Given the description of an element on the screen output the (x, y) to click on. 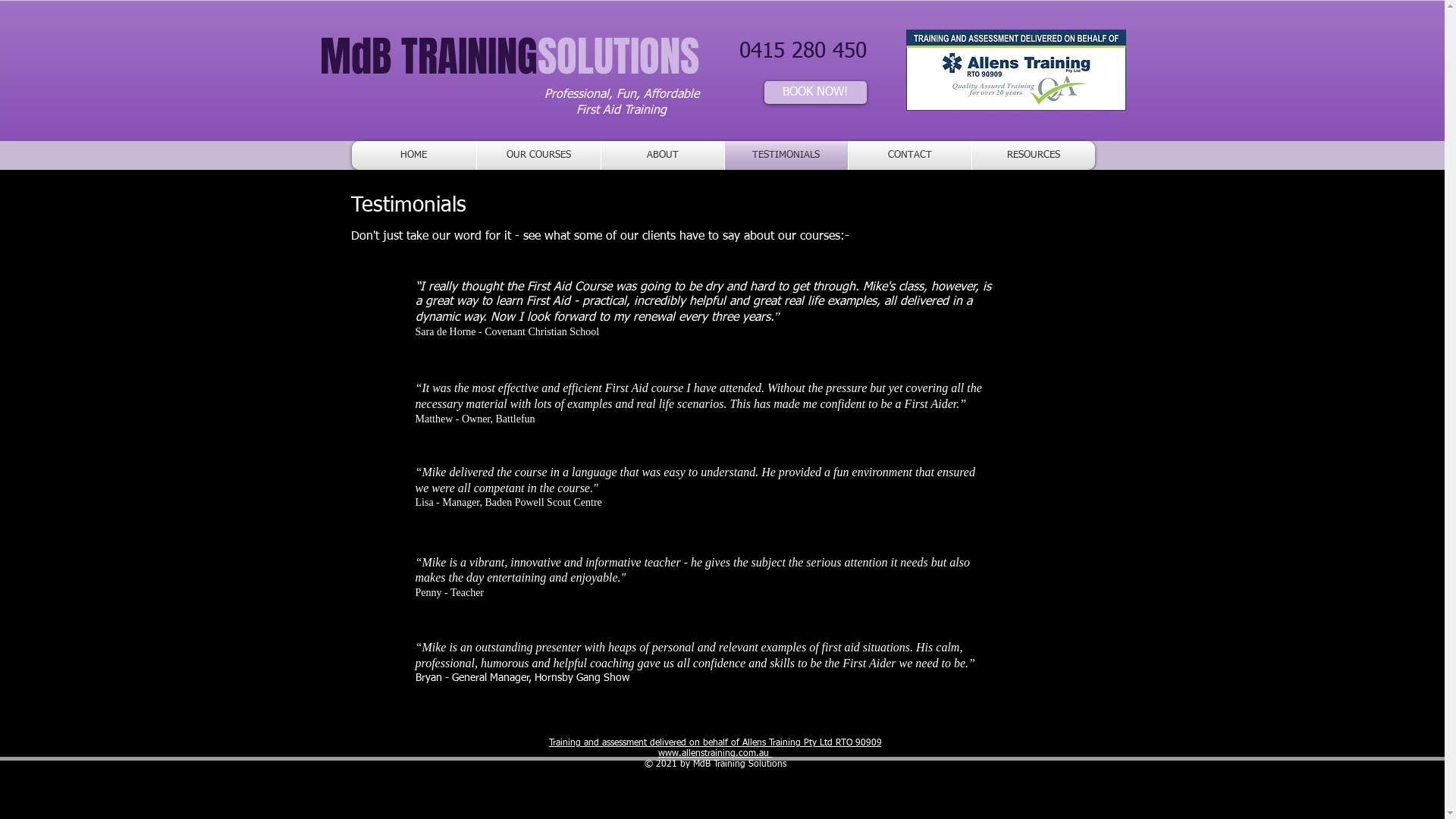
www.allenstraining.com.au  Element type: text (714, 753)
ABOUT Element type: text (661, 155)
Deliv by Allens White DkBlue 15AUG19 web Element type: hover (1015, 69)
BOOK NOW! Element type: text (815, 92)
HOME Element type: text (413, 155)
CONTACT Element type: text (908, 155)
OUR COURSES Element type: text (537, 155)
TESTIMONIALS Element type: text (785, 155)
RESOURCES Element type: text (1033, 155)
